Given the description of an element on the screen output the (x, y) to click on. 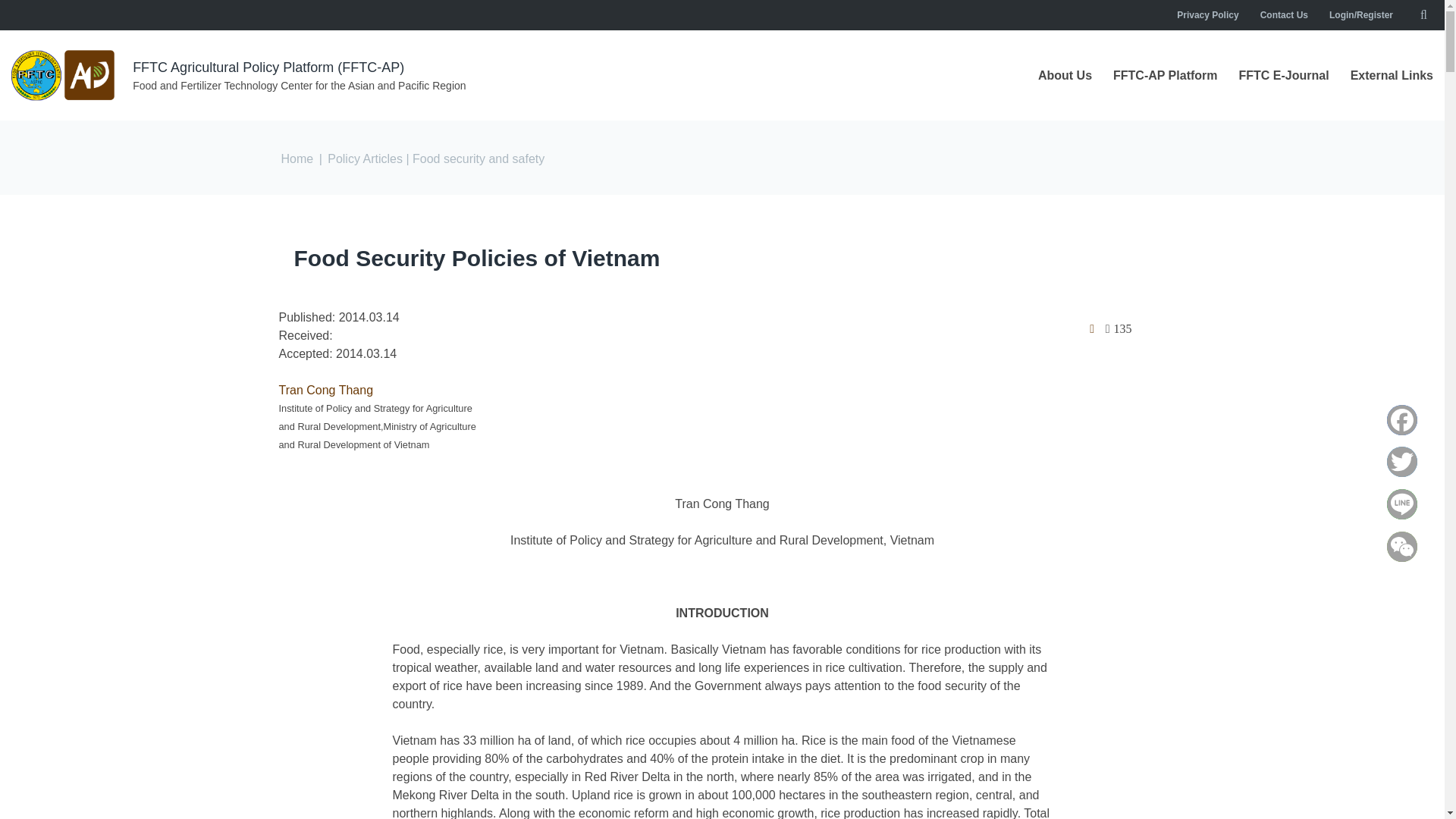
Policy Articles (363, 158)
Home (297, 158)
Contact Us (1283, 15)
Facebook (1402, 419)
About Us (1065, 75)
Privacy Policy (1207, 15)
Home (64, 75)
Tran Cong Thang (326, 390)
